Given the description of an element on the screen output the (x, y) to click on. 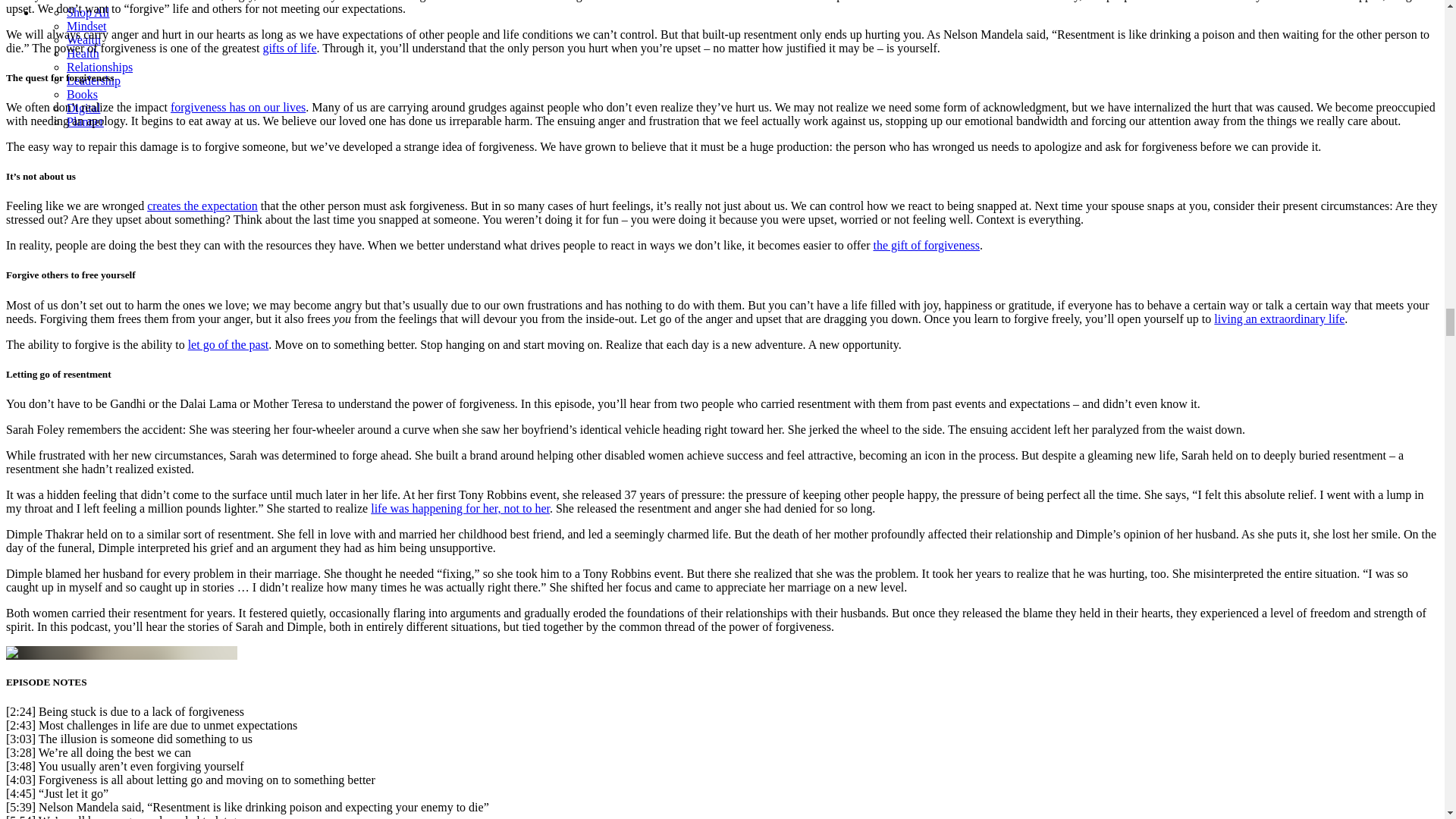
Wealth (83, 39)
Mindset (86, 25)
Health (82, 52)
Shop All (87, 11)
